Given the description of an element on the screen output the (x, y) to click on. 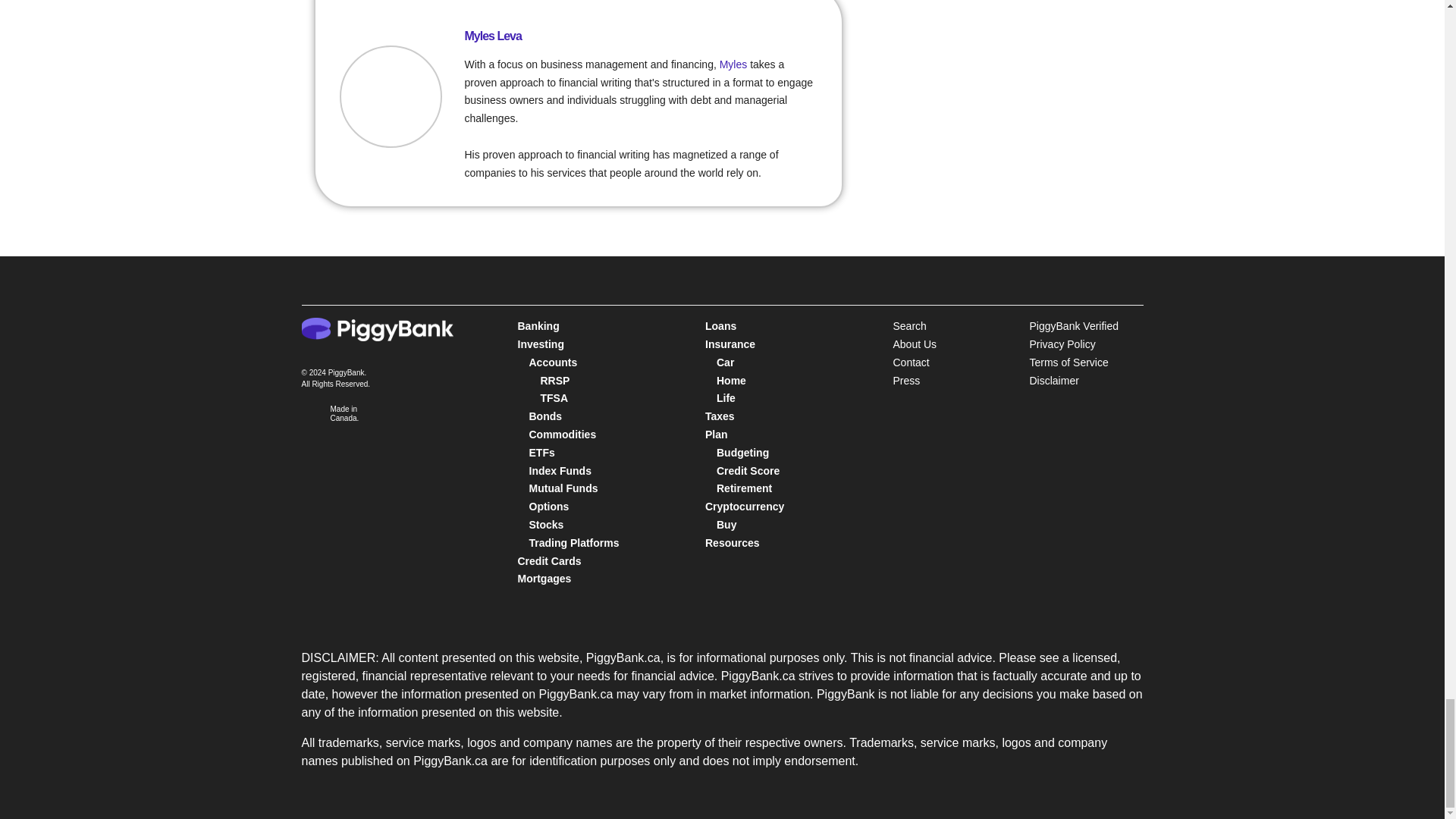
Posts by Myles Leva (492, 35)
